Given the description of an element on the screen output the (x, y) to click on. 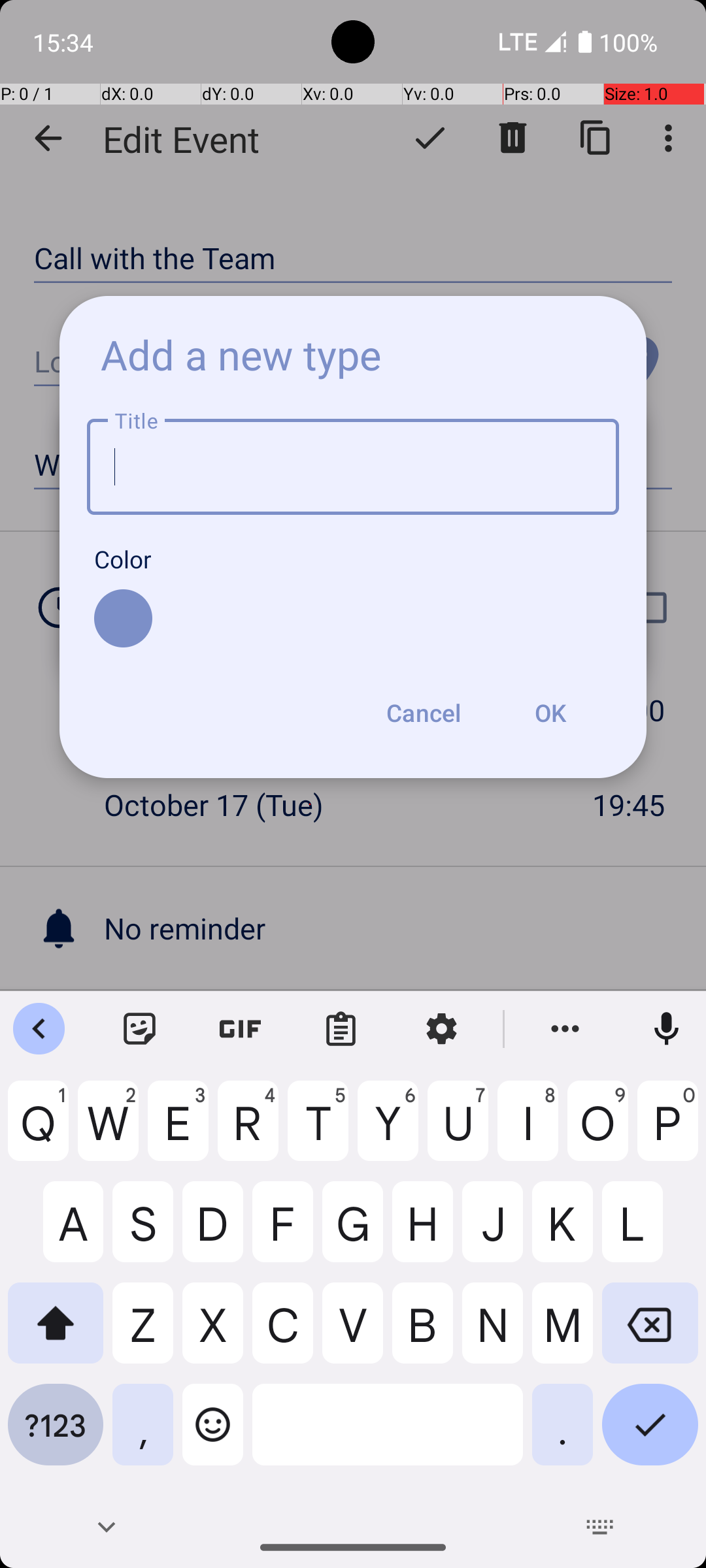
Add a new type Element type: android.widget.TextView (240, 354)
